Given the description of an element on the screen output the (x, y) to click on. 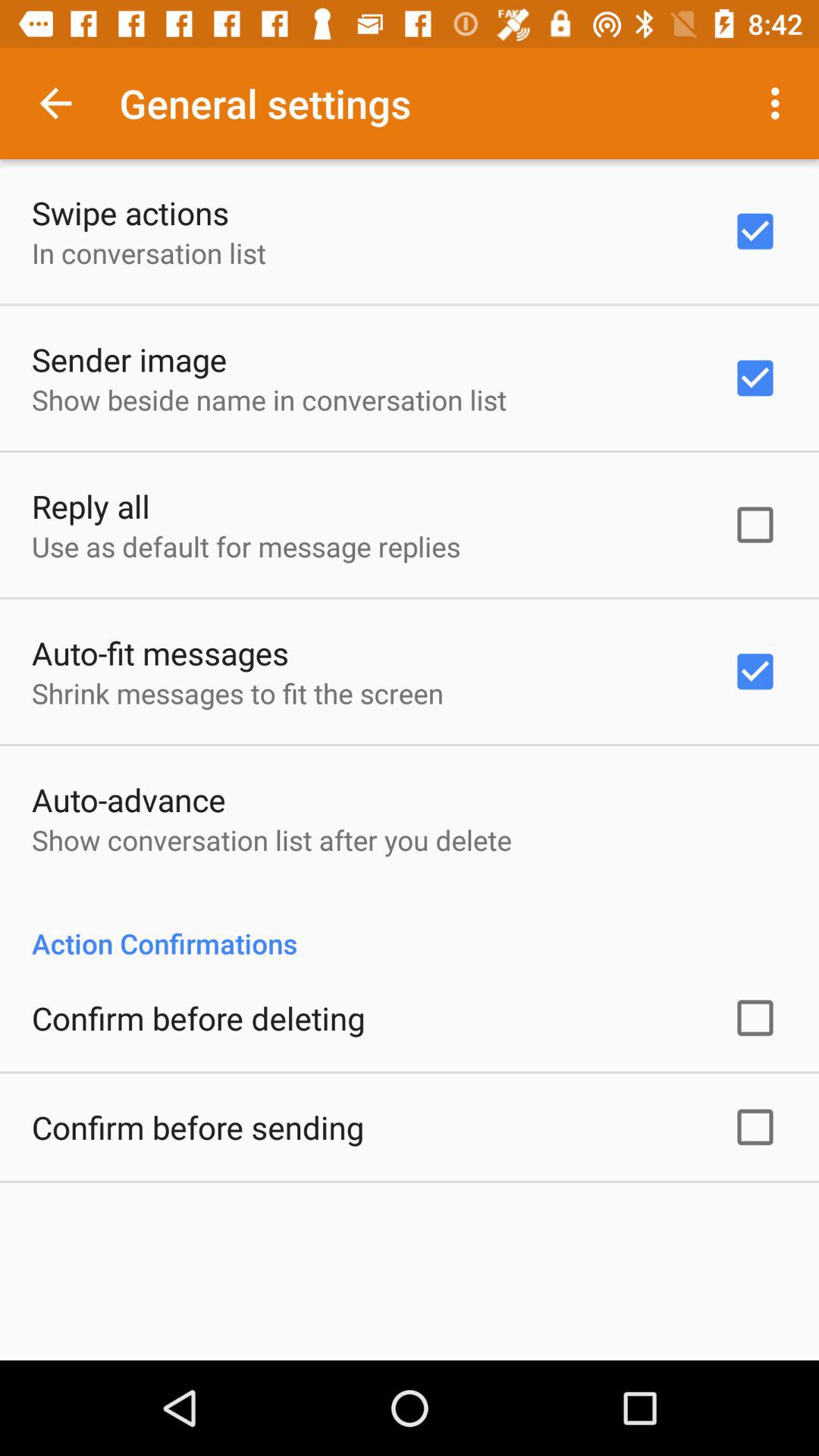
click the icon above the reply all icon (268, 399)
